Given the description of an element on the screen output the (x, y) to click on. 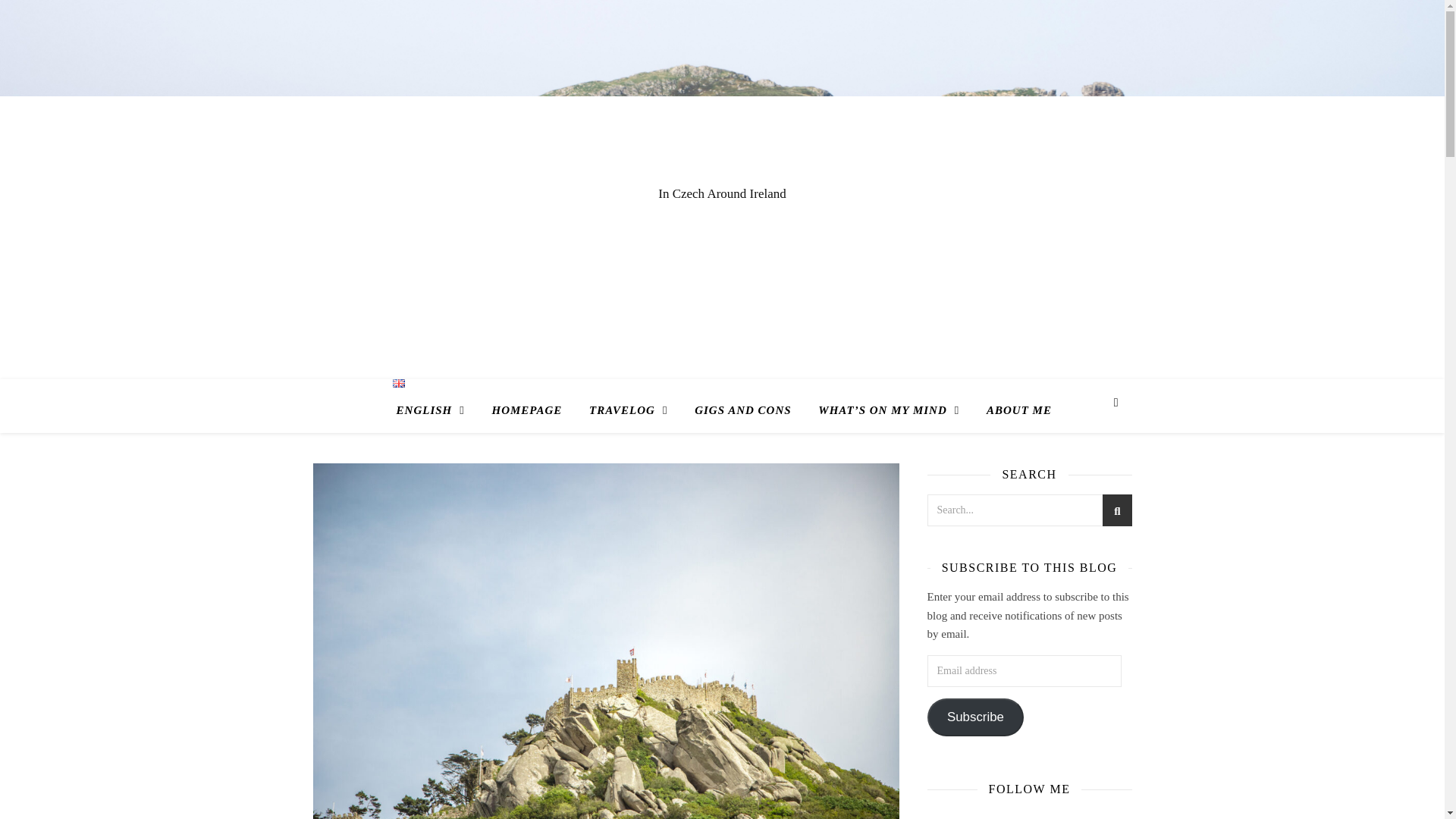
TRAVELOG (627, 410)
GIGS AND CONS (742, 410)
ENGLISH (435, 406)
ABOUT ME (1012, 410)
HOMEPAGE (526, 410)
